Given the description of an element on the screen output the (x, y) to click on. 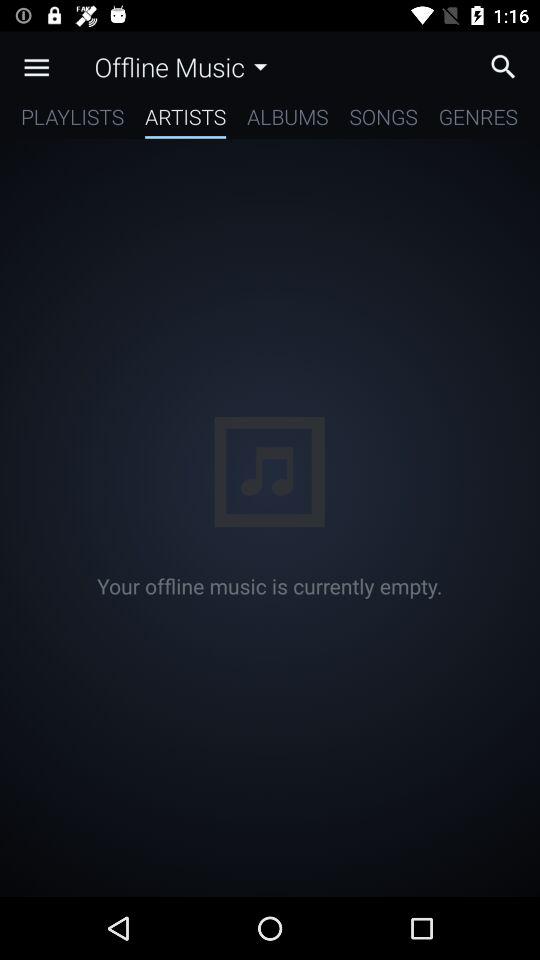
open search bar (508, 66)
